Given the description of an element on the screen output the (x, y) to click on. 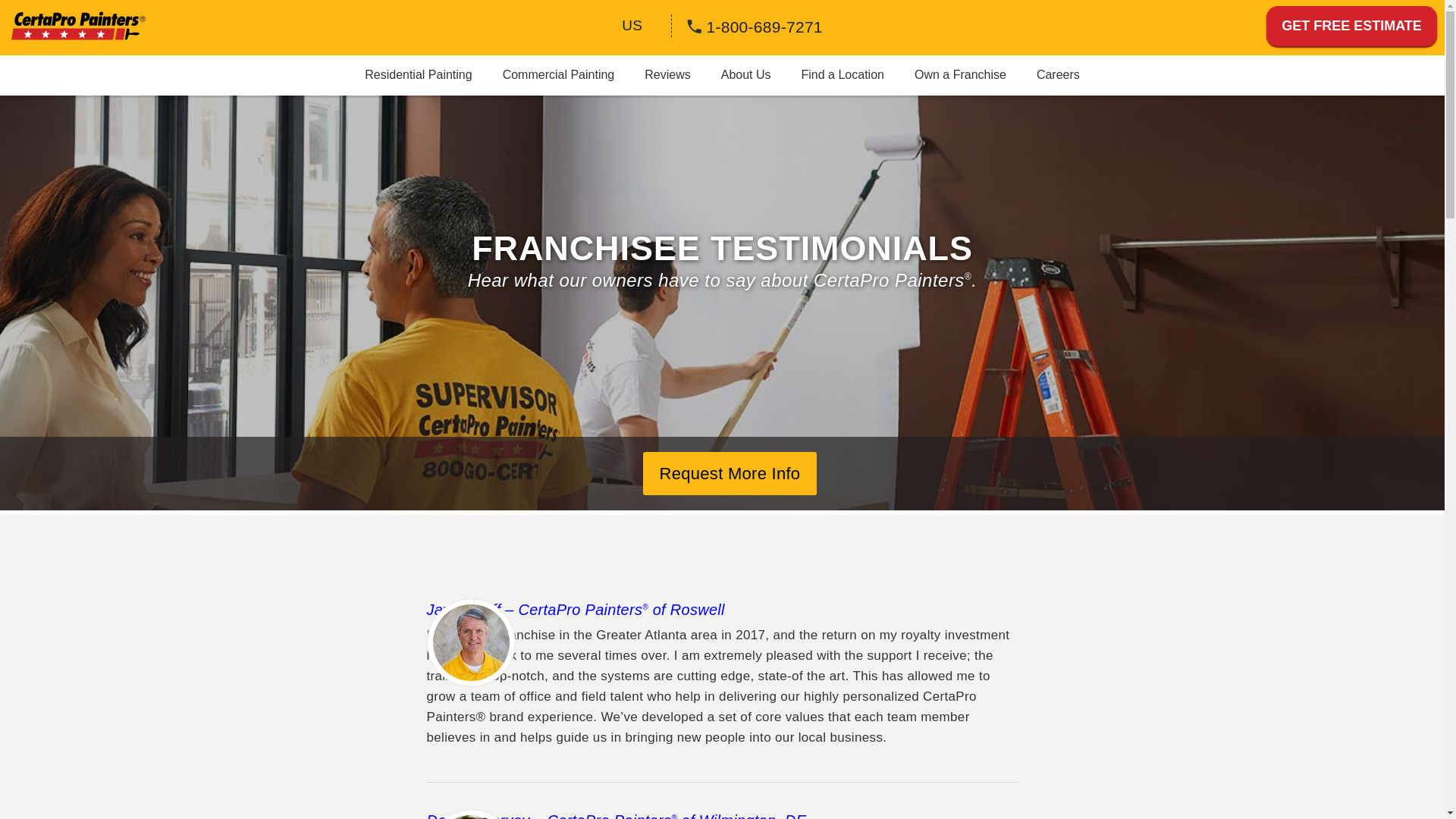
Reviews (666, 74)
Own a Franchise (960, 74)
Residential Painting (417, 74)
Find a Location (842, 74)
About Us (746, 74)
Commercial Painting (558, 74)
Careers (1058, 74)
GET FREE ESTIMATE (1351, 25)
